Given the description of an element on the screen output the (x, y) to click on. 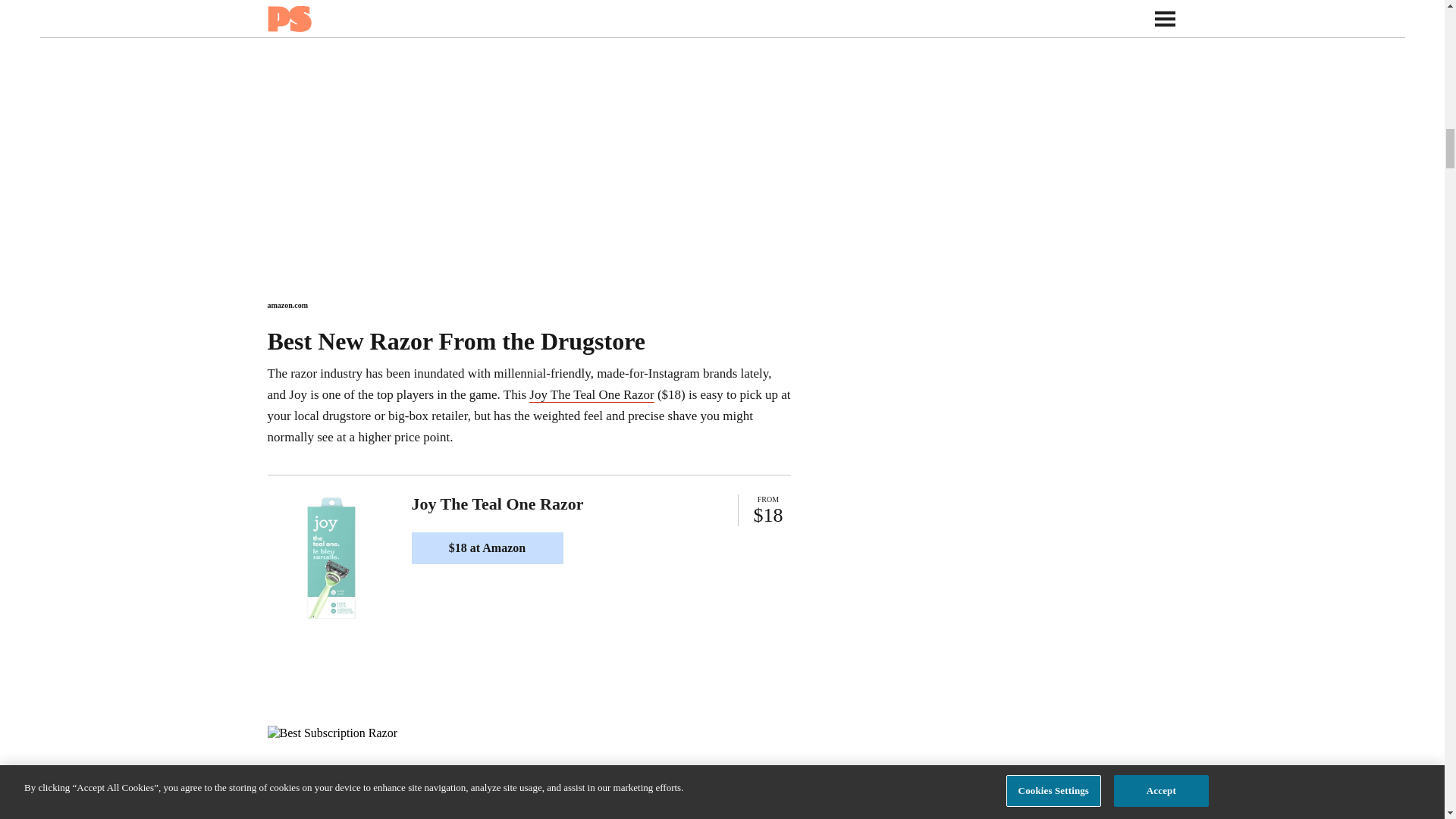
amazon.com (286, 305)
Joy The Teal One Razor (591, 394)
